Given the description of an element on the screen output the (x, y) to click on. 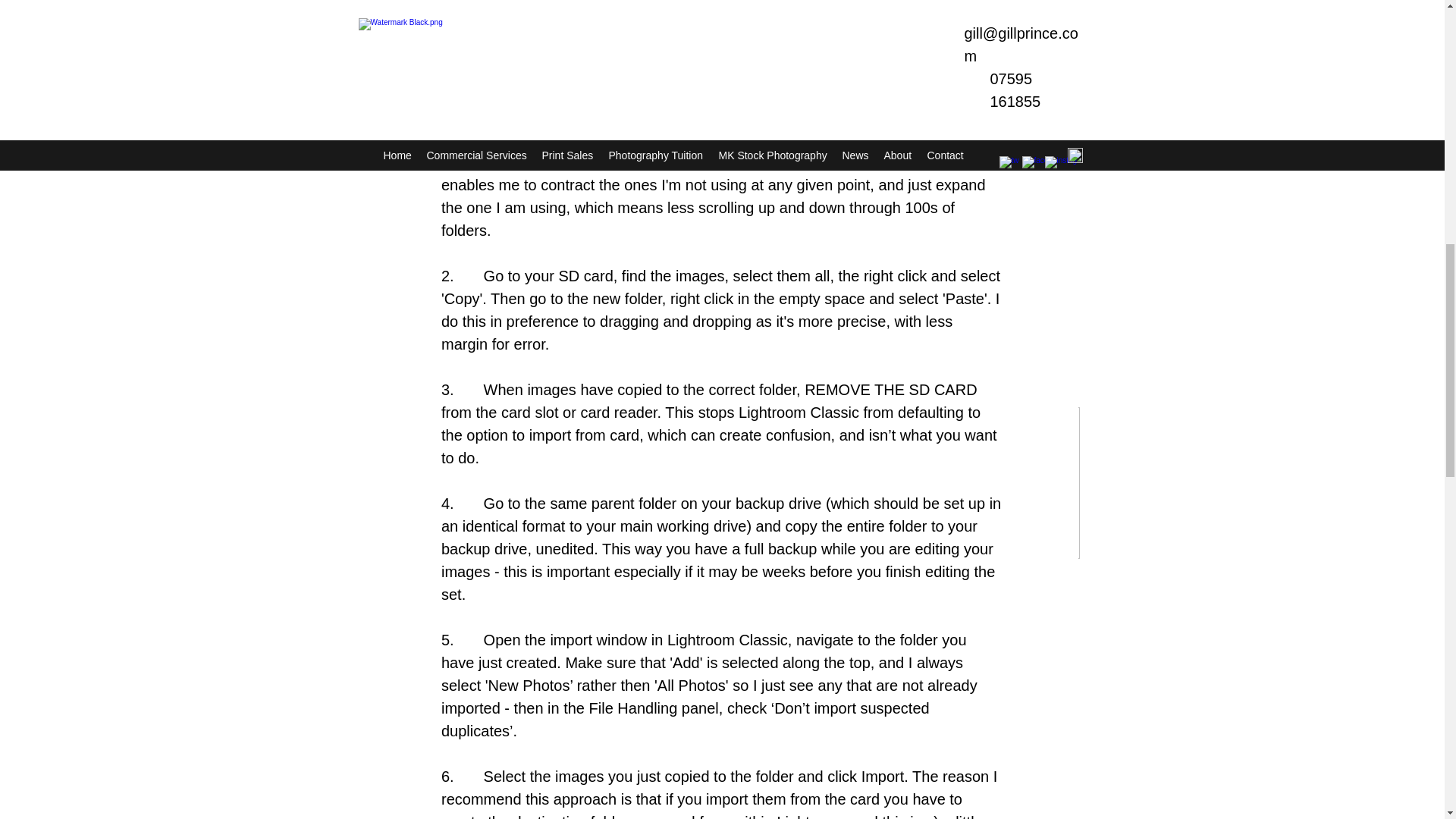
Photographing Commercial Property Exteriors (480, 615)
Unity Place and the Unity Sky Lounge (722, 604)
Shooting an innovative new housing development (965, 615)
